Given the description of an element on the screen output the (x, y) to click on. 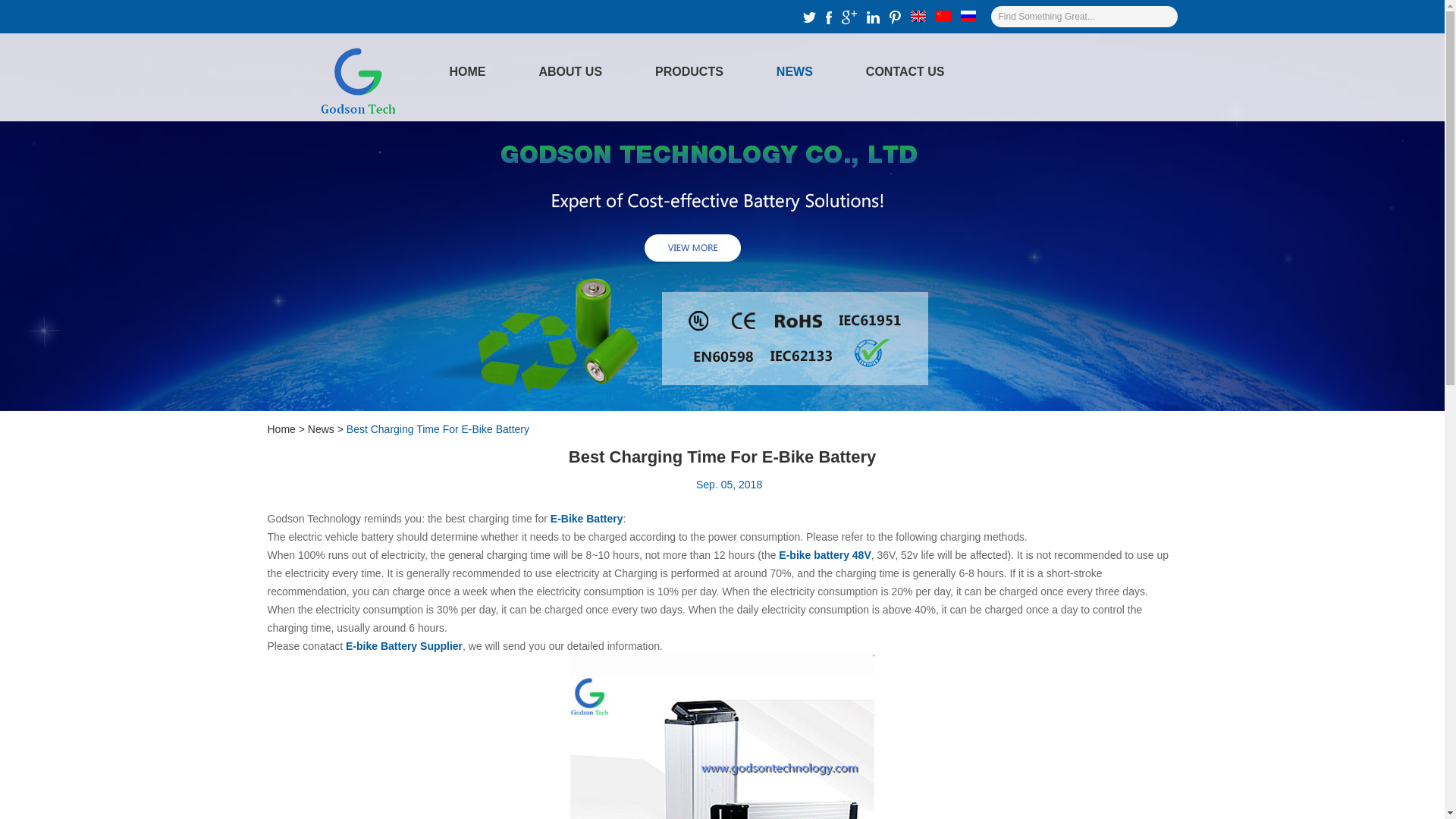
E-Bike Battery (586, 518)
Find Something Great... (1072, 16)
E-bike battery 48V (824, 554)
ABOUT US (570, 76)
E-bike Battery Supplier (404, 645)
PRODUCTS (689, 76)
E-Bike Battery (722, 737)
